Given the description of an element on the screen output the (x, y) to click on. 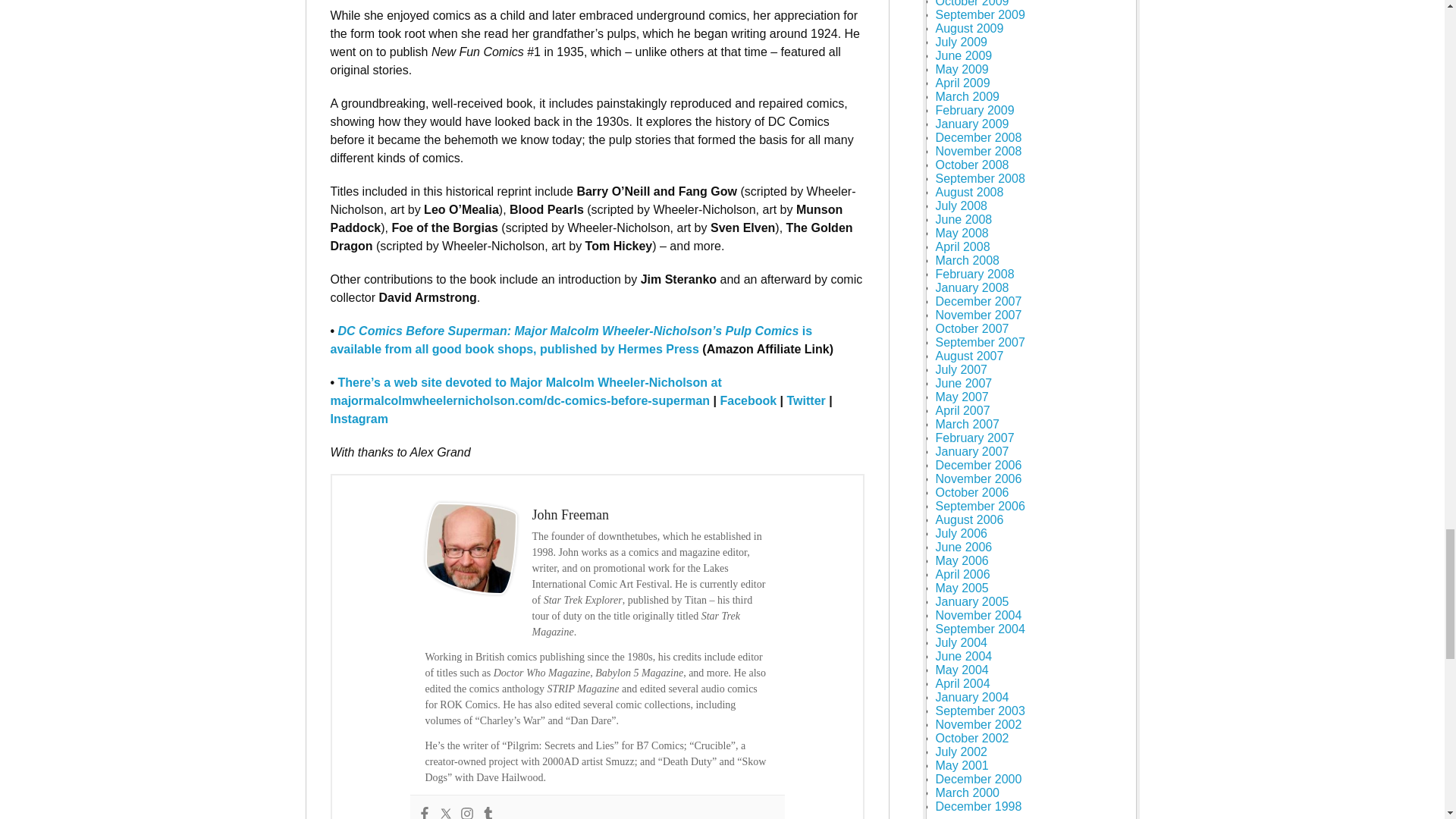
Instagram (466, 812)
Tumblr (487, 812)
Twitter (444, 812)
Facebook (423, 812)
